Given the description of an element on the screen output the (x, y) to click on. 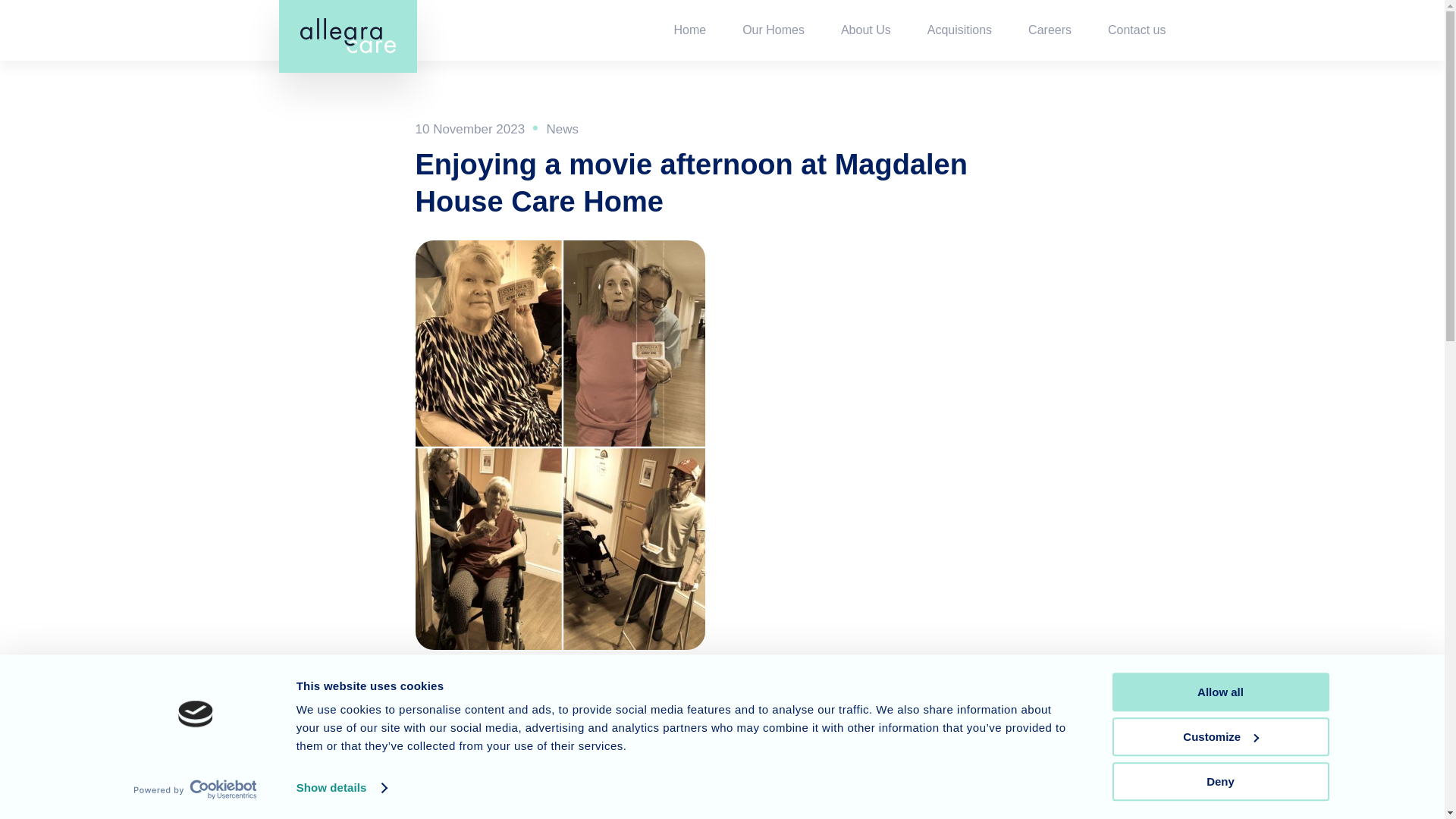
Show details (341, 787)
Allow all (1219, 691)
Deny (1219, 781)
Customize (1219, 736)
